Given the description of an element on the screen output the (x, y) to click on. 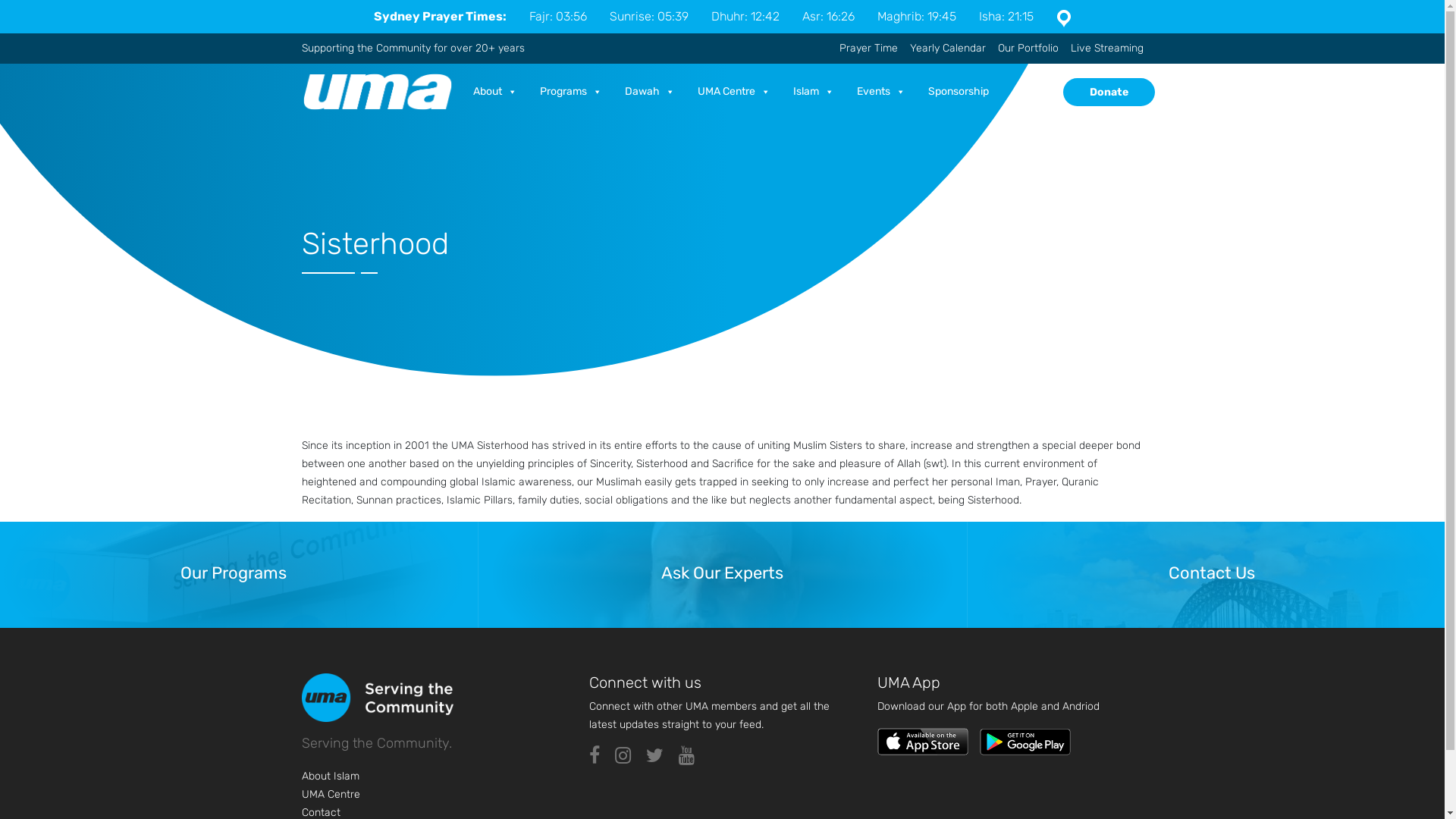
UMA Centre Element type: text (330, 793)
Sponsorship Element type: text (962, 91)
Dawah Element type: text (653, 91)
Events Element type: text (884, 91)
Live Streaming Element type: text (1100, 48)
About Islam Element type: text (330, 775)
Prayer Time Element type: text (867, 48)
Programs Element type: text (574, 91)
Ask Our Experts Element type: text (722, 574)
Contact Us Element type: text (1211, 574)
Yearly Calendar Element type: text (941, 48)
Islam Element type: text (817, 91)
UMA Centre Element type: text (737, 91)
About Element type: text (498, 91)
Our Programs Element type: text (233, 574)
Our Portfolio Element type: text (1021, 48)
Donate Element type: text (1108, 92)
